Given the description of an element on the screen output the (x, y) to click on. 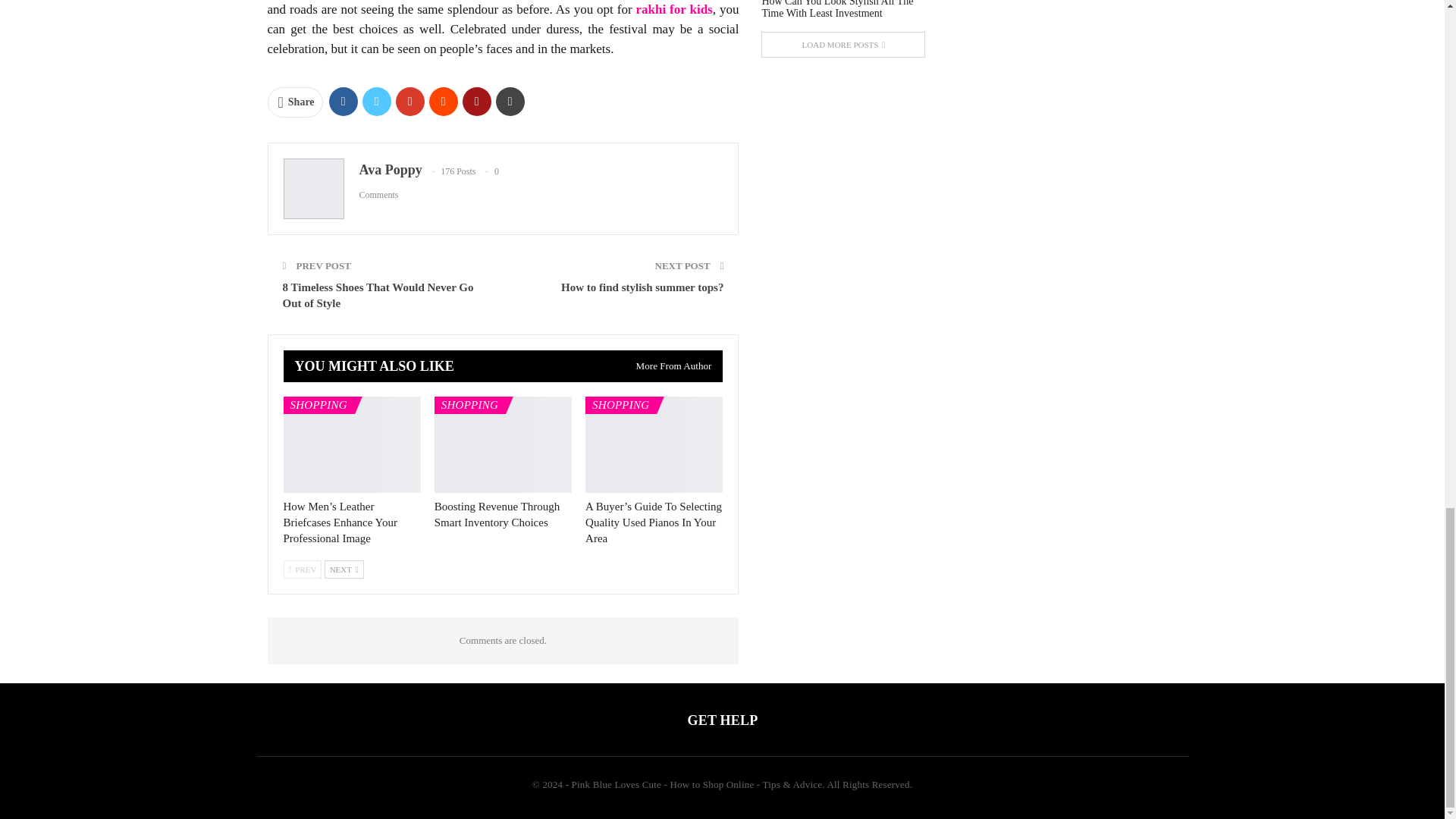
Next (344, 569)
Previous (302, 569)
Boosting Revenue Through Smart Inventory Choices (496, 514)
Boosting Revenue Through Smart Inventory Choices (502, 444)
